Given the description of an element on the screen output the (x, y) to click on. 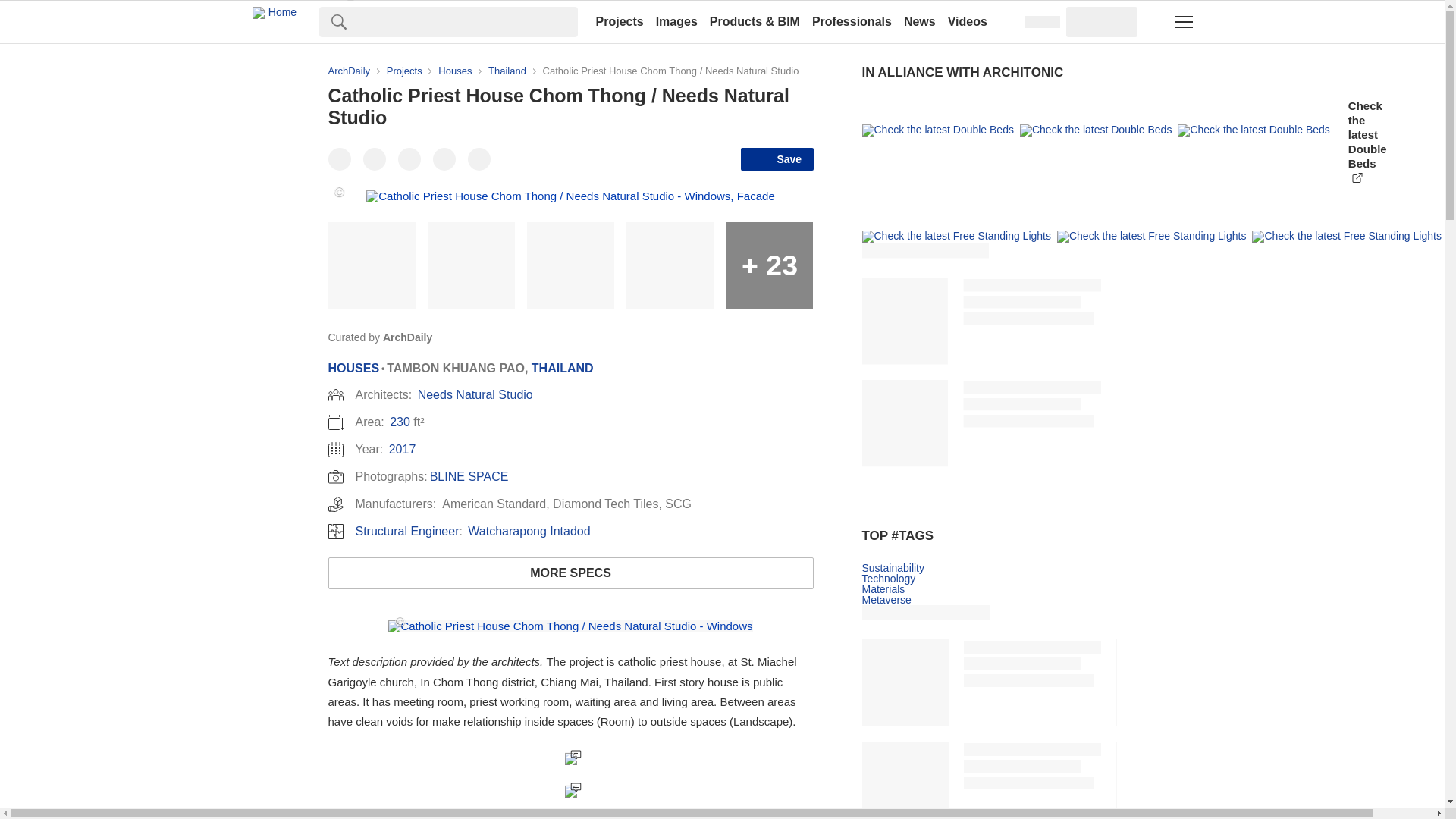
Images (676, 21)
Videos (967, 21)
Professionals (852, 21)
News (920, 21)
Projects (619, 21)
